Given the description of an element on the screen output the (x, y) to click on. 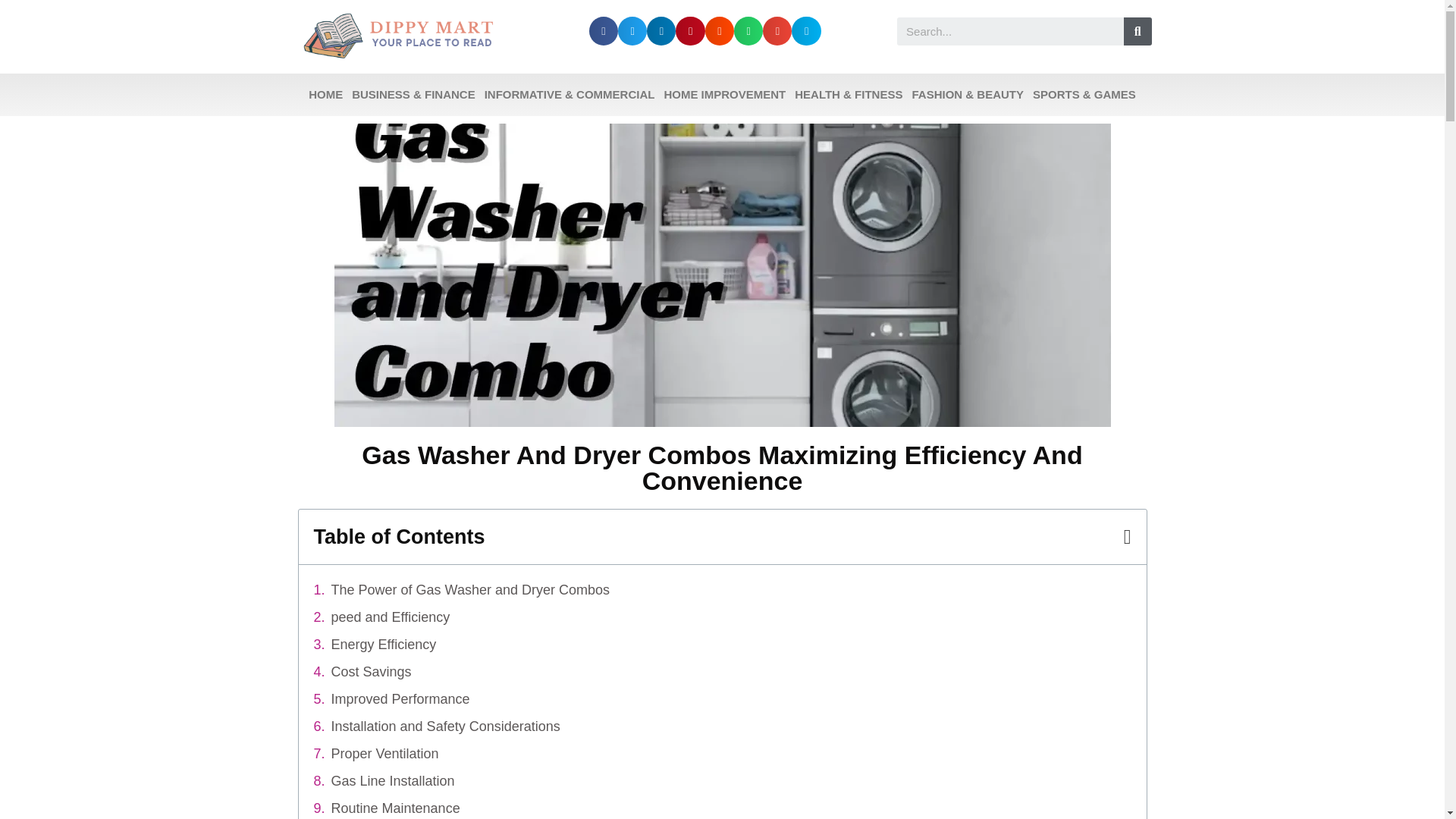
Cost Savings (371, 671)
Routine Maintenance (395, 808)
Search (1010, 31)
Installation and Safety Considerations (445, 726)
Proper Ventilation (385, 753)
Energy Efficiency (383, 644)
HOME IMPROVEMENT (724, 94)
Improved Performance (400, 699)
The Power of Gas Washer and Dryer Combos (470, 589)
HOME (325, 94)
